Given the description of an element on the screen output the (x, y) to click on. 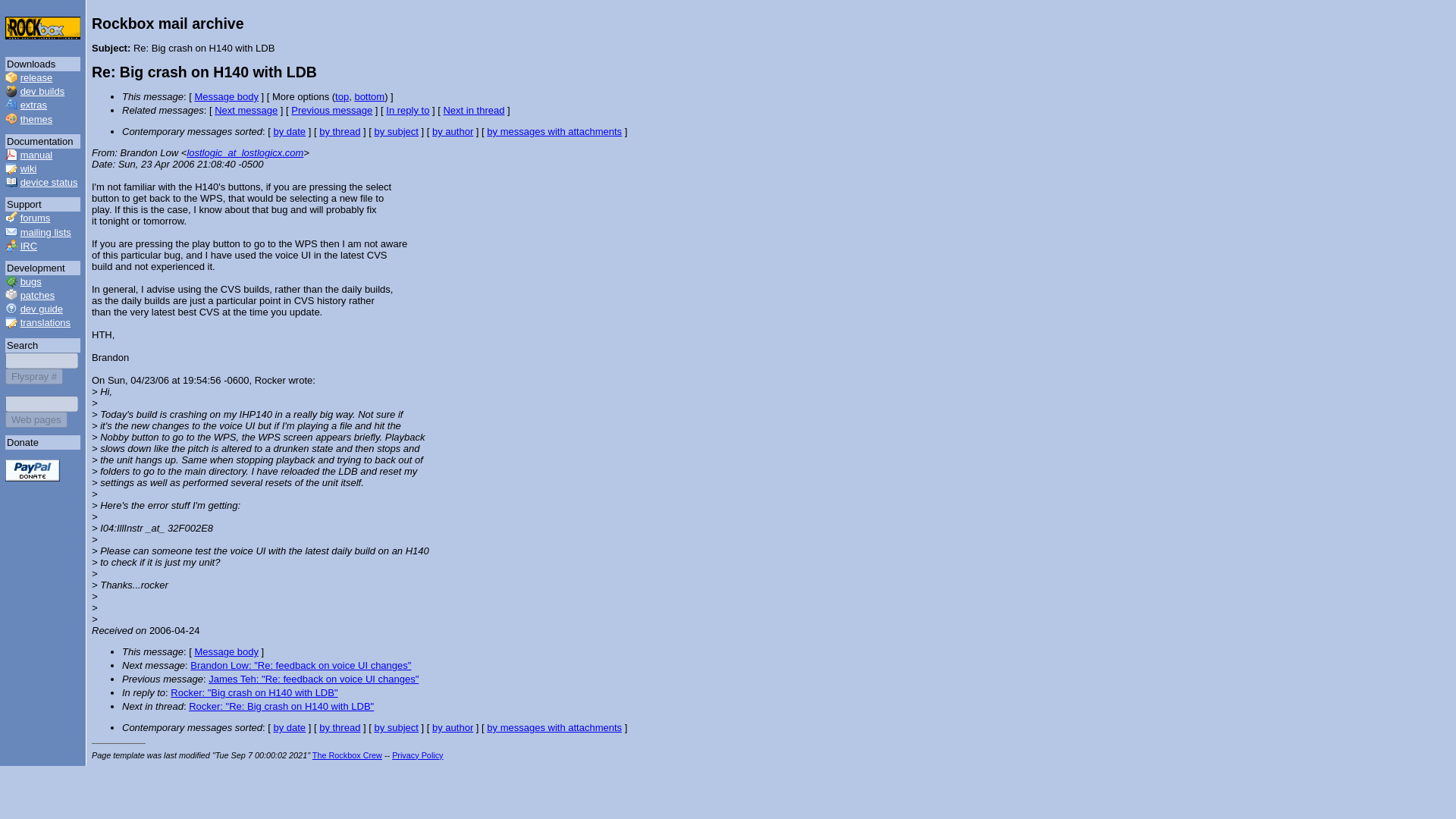
by author (452, 131)
Contemporary messages by author (452, 727)
Contemporary discussion threads (338, 131)
bugs (31, 281)
Brandon Low: "Re: feedback on voice UI changes" (300, 665)
by date (289, 727)
James Teh: "Re: feedback on voice UI changes" (313, 678)
Web pages (35, 419)
Contemporary messages by attachment (553, 727)
dev builds (42, 91)
